Given the description of an element on the screen output the (x, y) to click on. 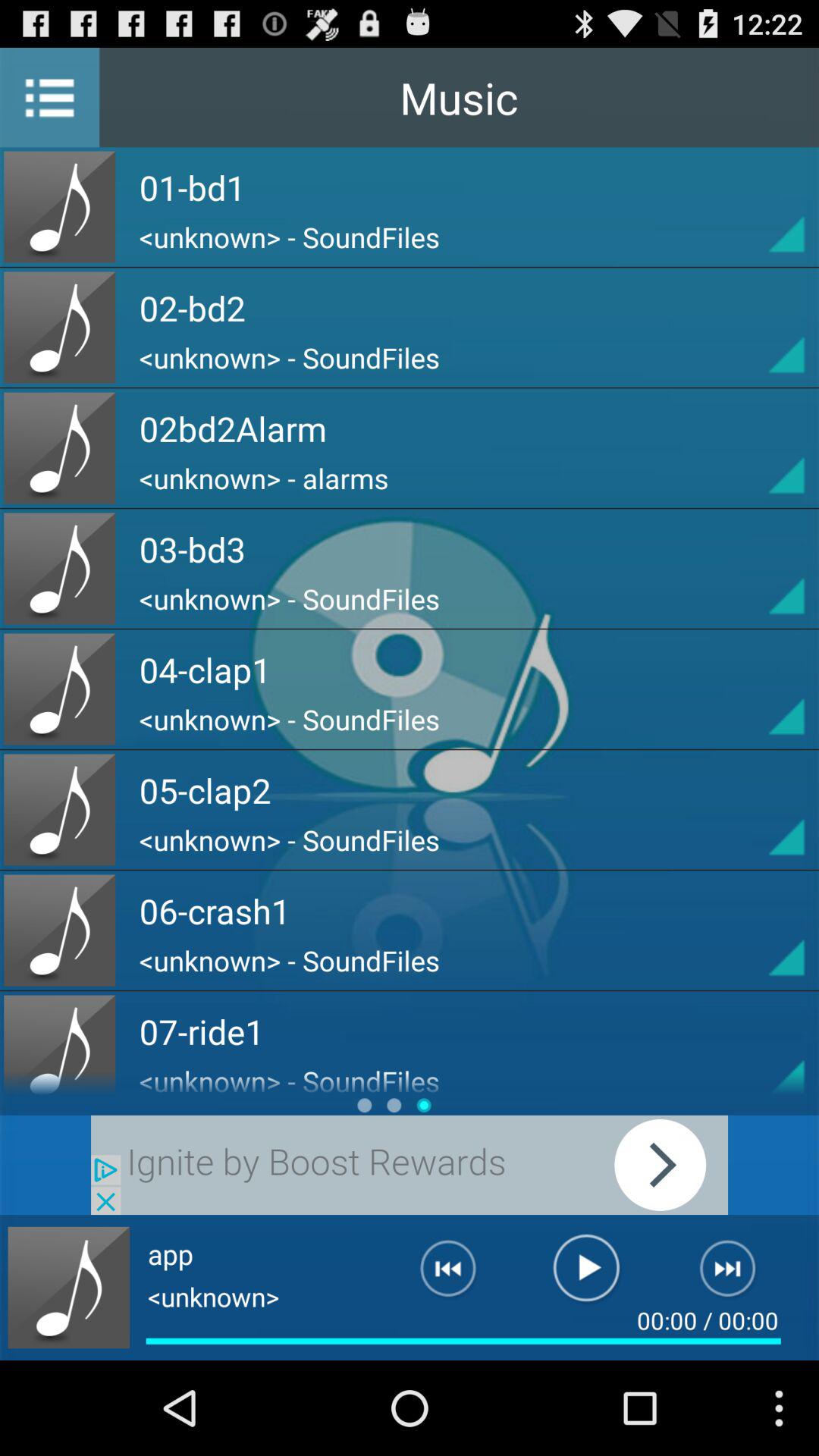
it is next page element (737, 1274)
